Given the description of an element on the screen output the (x, y) to click on. 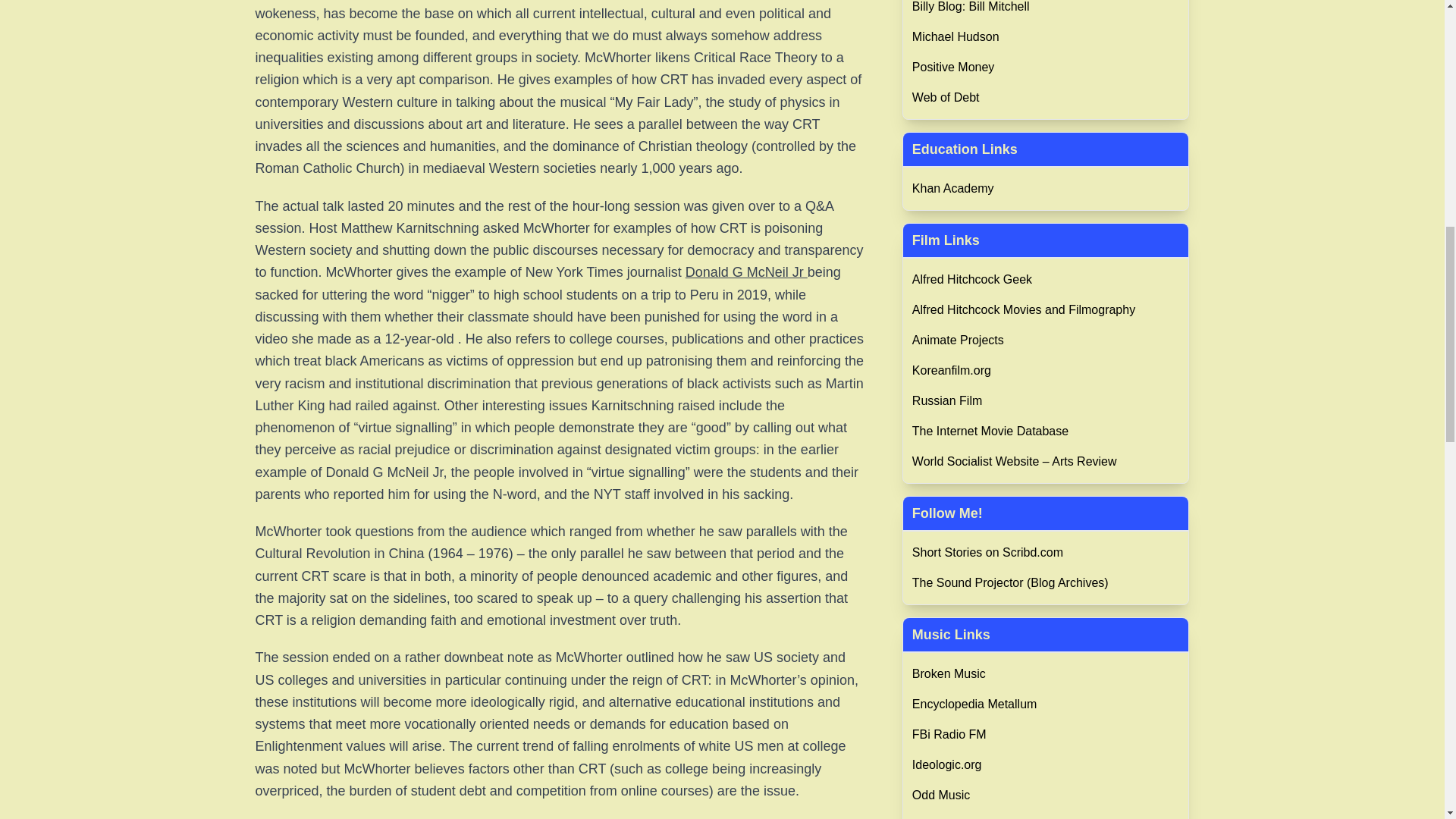
Positive Money (1045, 67)
Donald G McNeil Jr (746, 272)
Web of Debt (1045, 97)
Russian Film (1045, 401)
Koreanfilm.org (1045, 370)
Michael Hudson (1045, 36)
Alfred Hitchcock Geek (1045, 280)
Khan Academy (1045, 188)
Alfred Hitchcock Movies and Filmography (1045, 310)
Animate Projects (1045, 340)
